Given the description of an element on the screen output the (x, y) to click on. 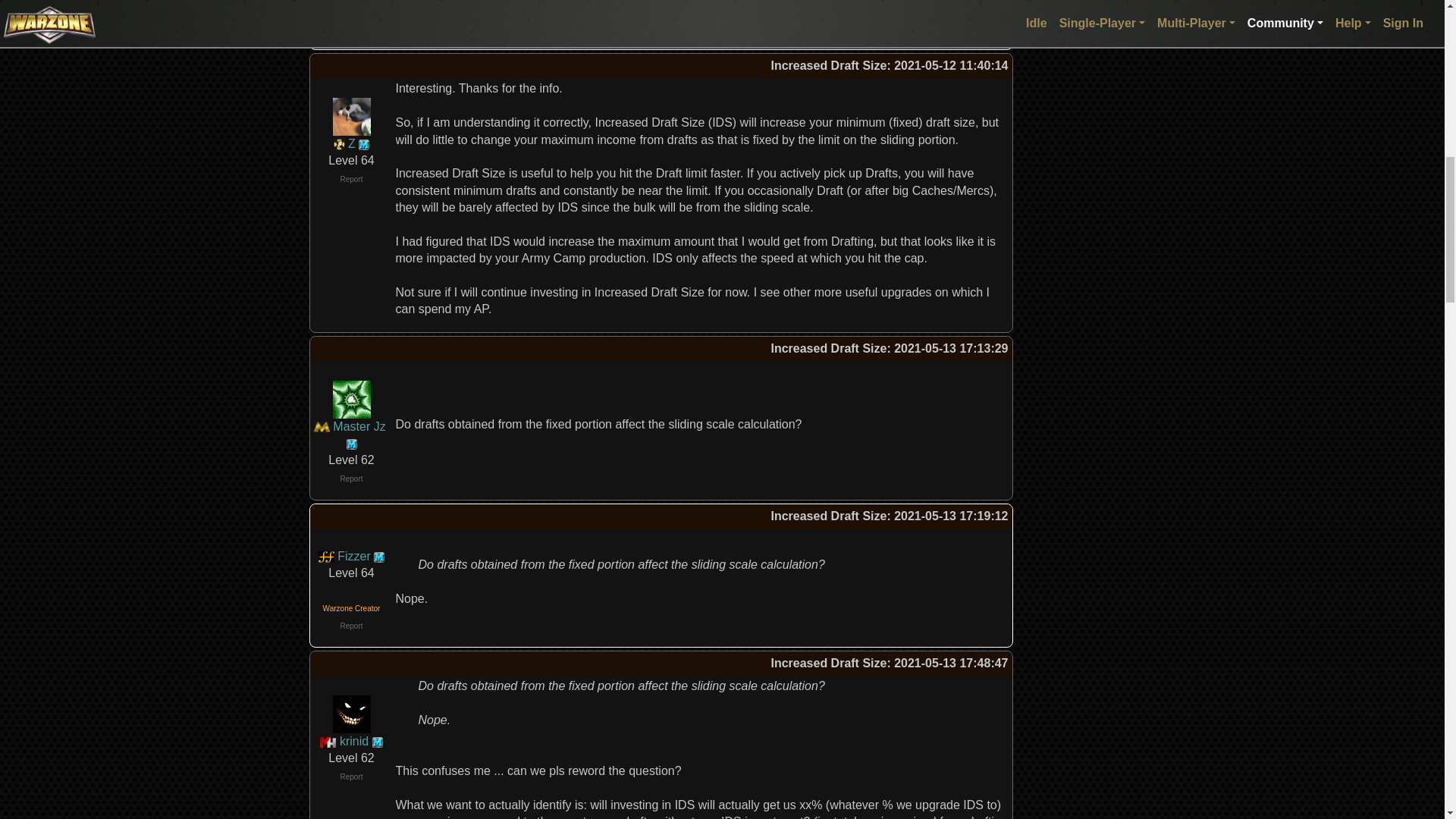
Warzone Member (379, 557)
Warzone Member (363, 144)
Warzone Member (377, 742)
MASTER Clan (322, 426)
Flunky Fizzers (326, 555)
M'Hunters (328, 740)
Warzone Member (351, 443)
